Given the description of an element on the screen output the (x, y) to click on. 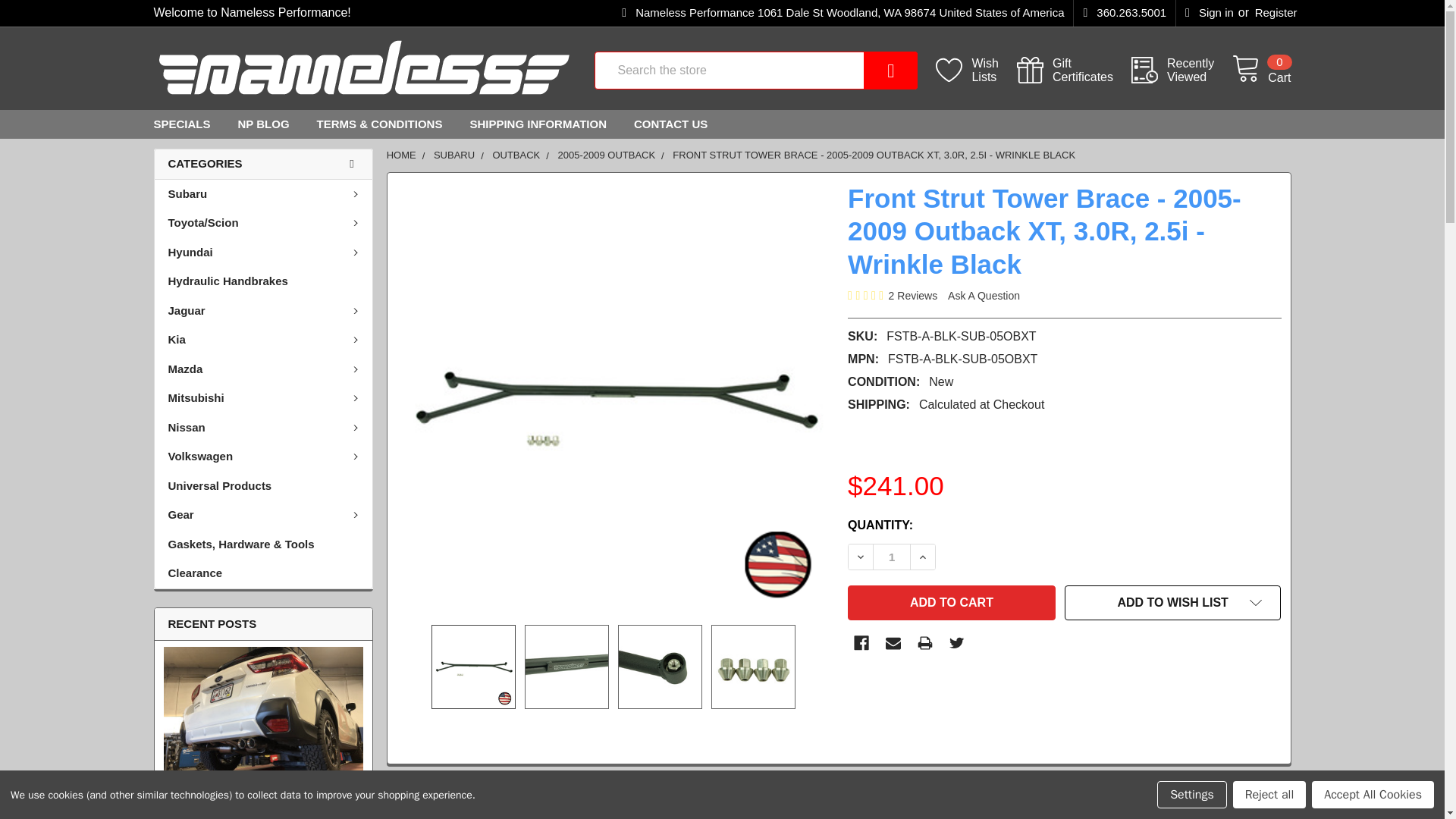
Add to Cart (951, 602)
Gift Certificates (1073, 70)
1 (891, 556)
Register (1276, 13)
Recently Viewed (976, 70)
Cart (1181, 70)
Search (1260, 70)
Wish Lists (869, 70)
Nameless Performance (976, 70)
360.263.5001 (363, 70)
Print (1124, 13)
